Given the description of an element on the screen output the (x, y) to click on. 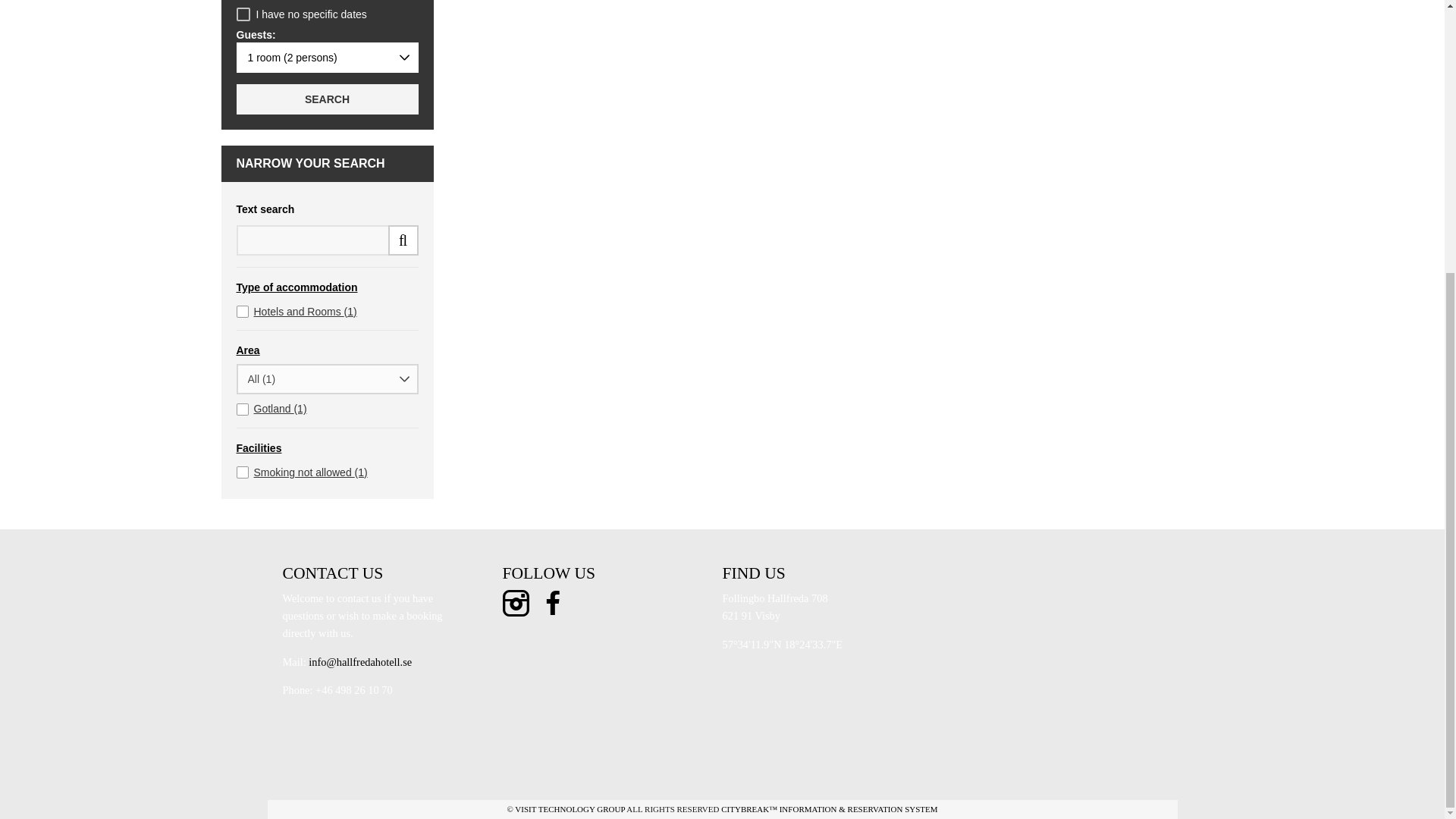
Facilities (327, 448)
Area (327, 350)
VISIT TECHNOLOGY GROUP (569, 809)
Search (327, 99)
Type of accommodation (327, 288)
SEARCH (327, 99)
